Given the description of an element on the screen output the (x, y) to click on. 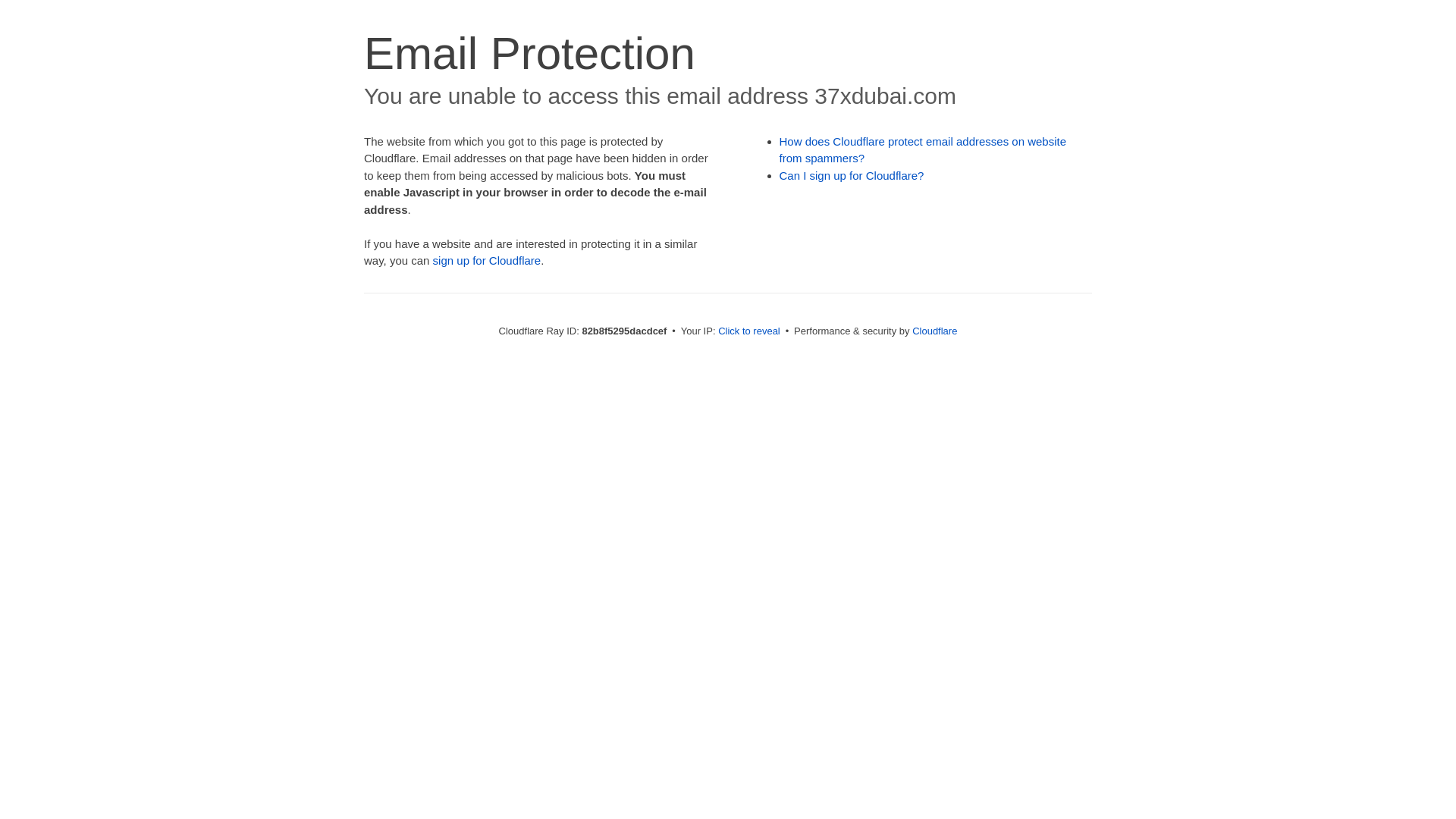
sign up for Cloudflare Element type: text (487, 260)
Can I sign up for Cloudflare? Element type: text (851, 175)
Cloudflare Element type: text (934, 330)
Click to reveal Element type: text (749, 330)
